Given the description of an element on the screen output the (x, y) to click on. 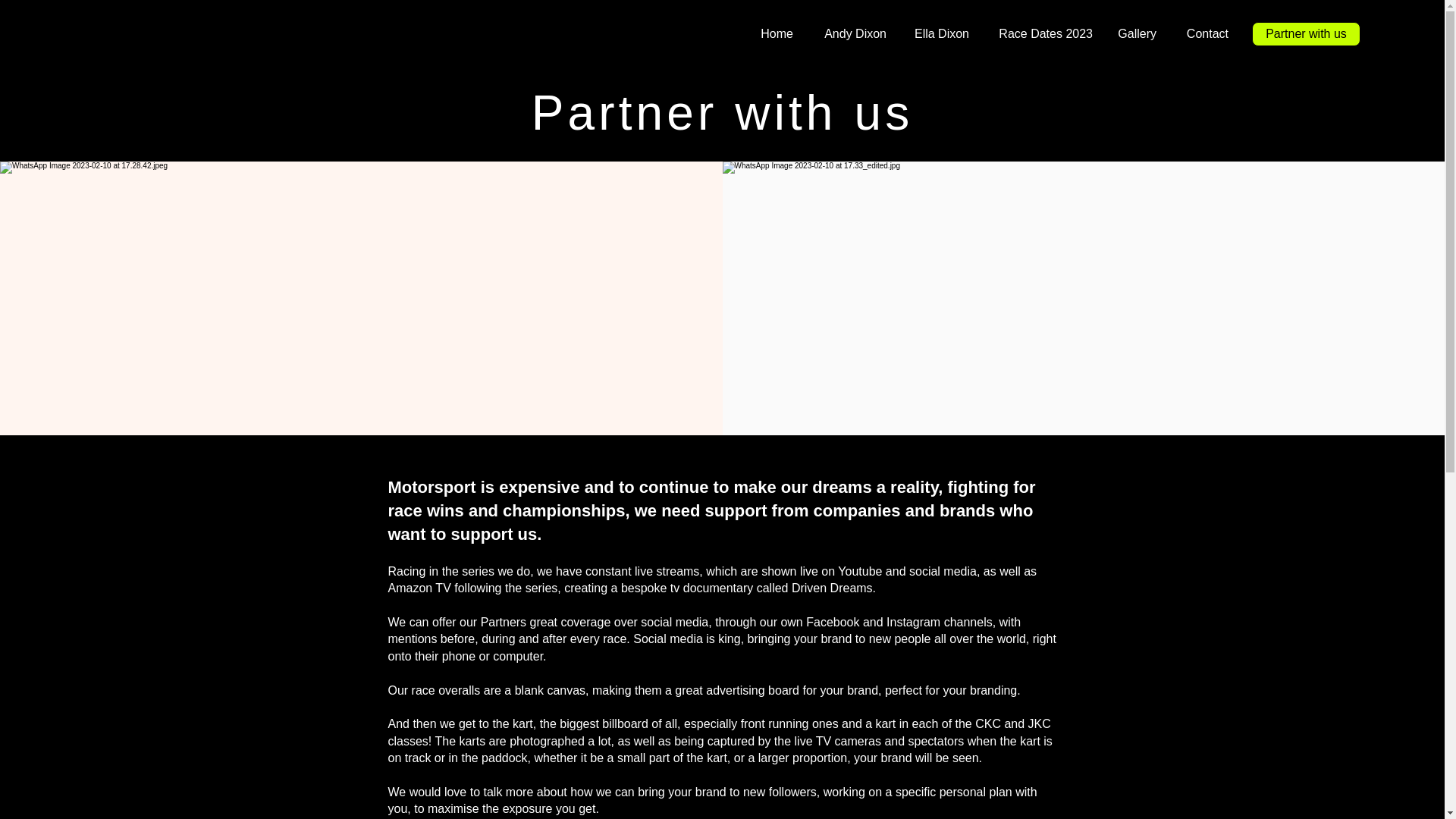
Ella Dixon (938, 34)
Contact (1203, 34)
Race Dates 2023 (1041, 34)
Andy Dixon (851, 34)
Home (774, 34)
Gallery (1135, 34)
Partner with us (1305, 33)
